Given the description of an element on the screen output the (x, y) to click on. 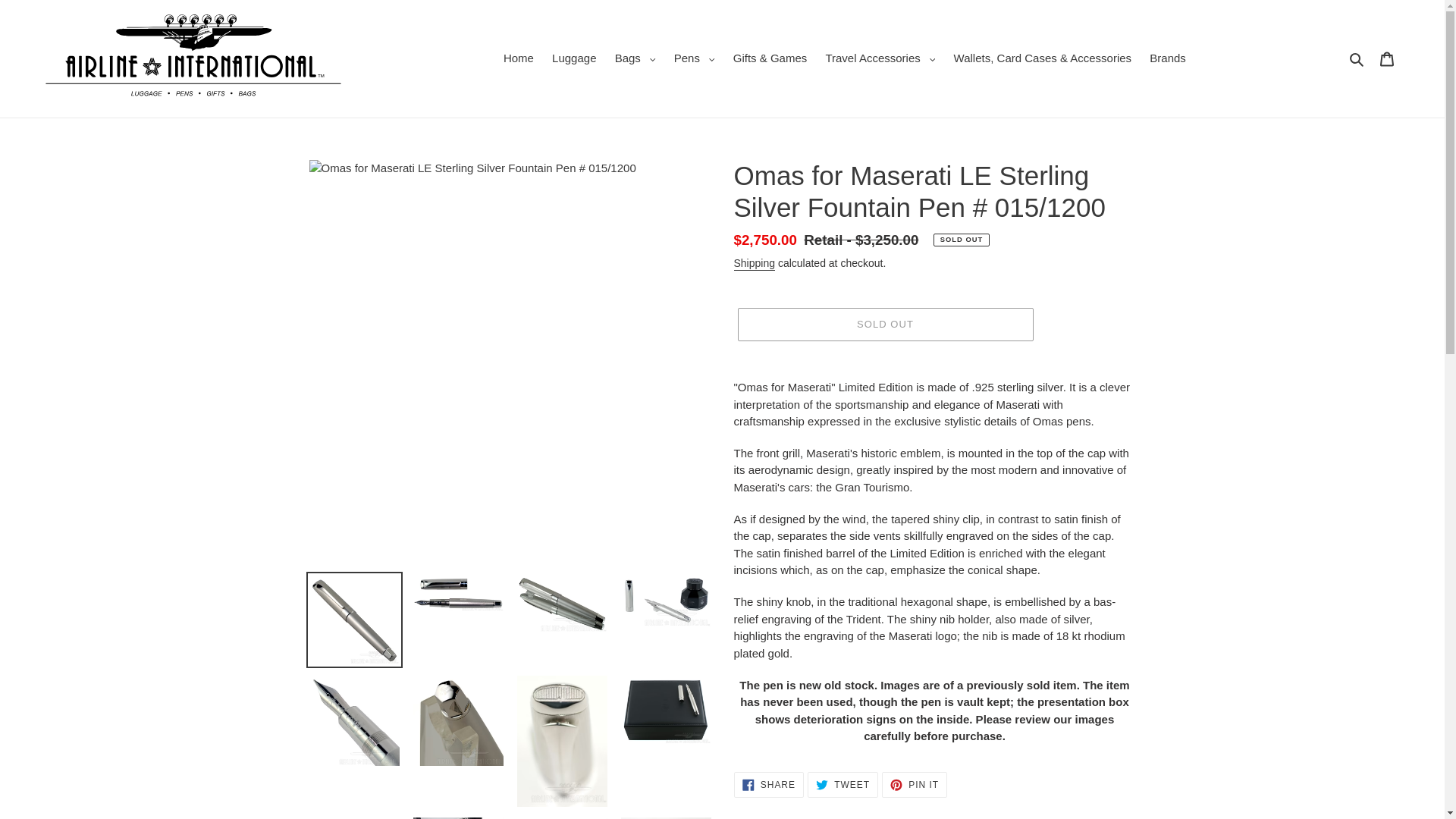
Luggage (574, 58)
Brands (635, 58)
Home (694, 58)
